Given the description of an element on the screen output the (x, y) to click on. 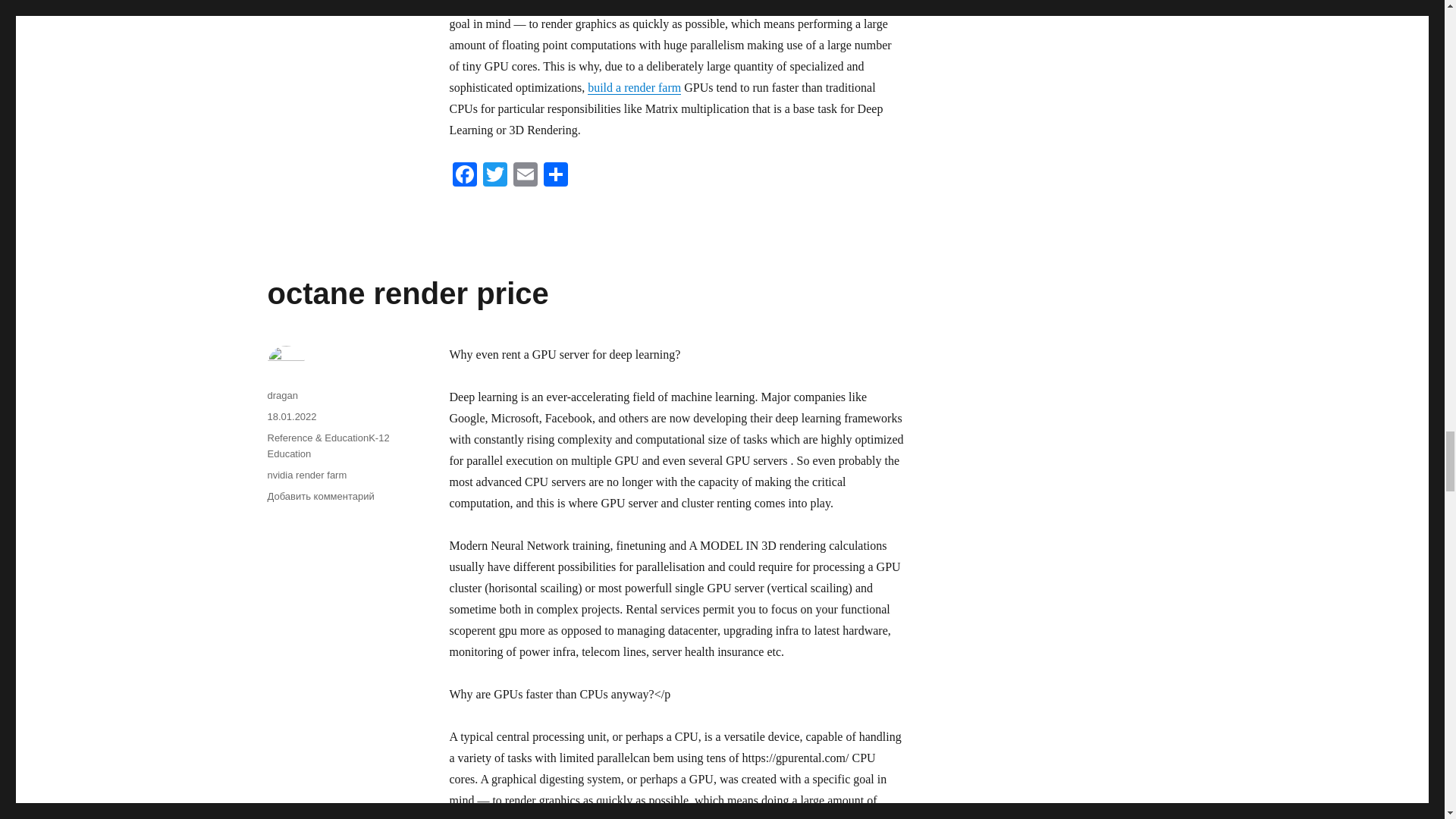
Twitter (494, 176)
Facebook (463, 176)
build a render farm (634, 87)
Email (524, 176)
